Given the description of an element on the screen output the (x, y) to click on. 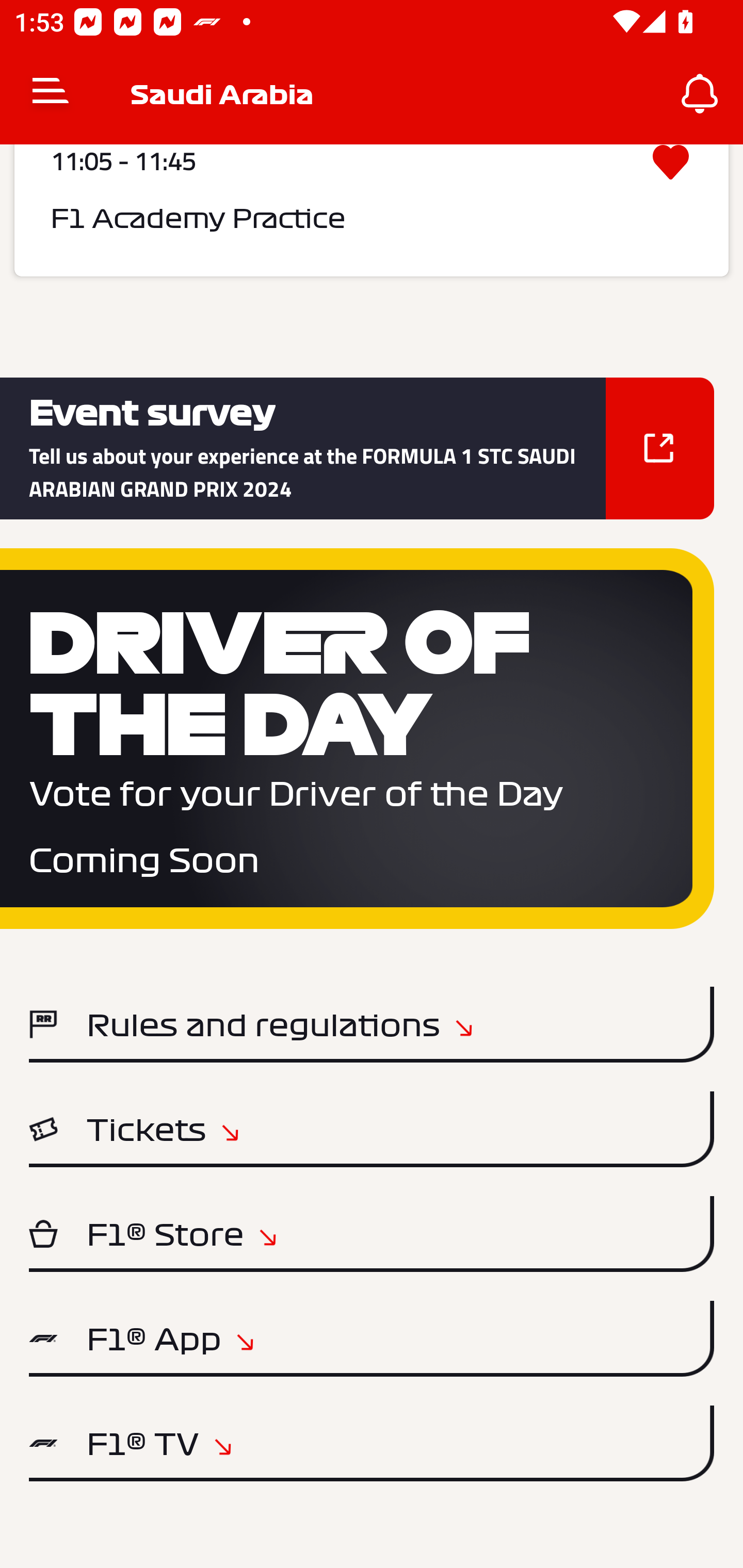
Navigate up (50, 93)
Notifications (699, 93)
11:05 - 11:45 F1 Academy Practice (371, 209)
Rules and regulations (371, 1024)
Tickets (371, 1128)
F1® Store (371, 1233)
F1® App (371, 1338)
F1® TV (371, 1442)
